Given the description of an element on the screen output the (x, y) to click on. 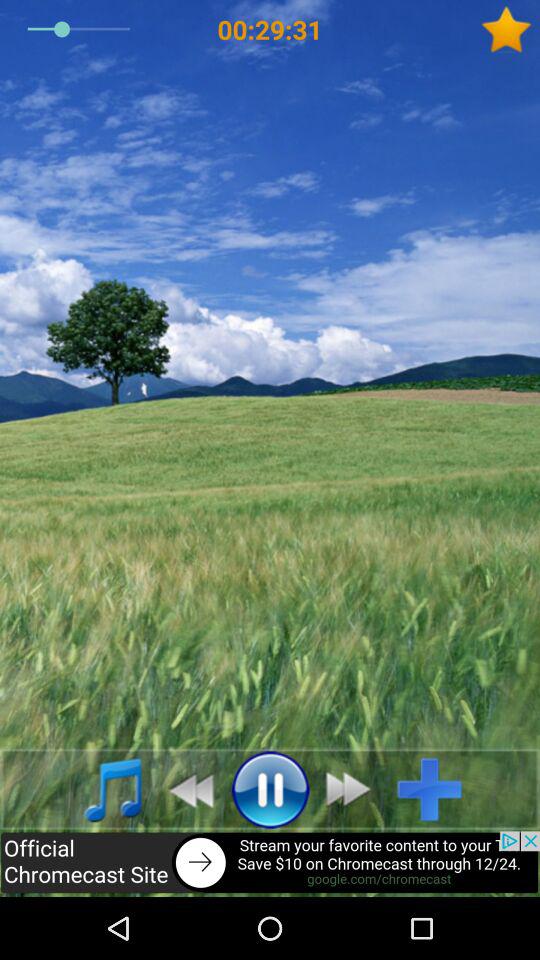
go to add (438, 789)
